Given the description of an element on the screen output the (x, y) to click on. 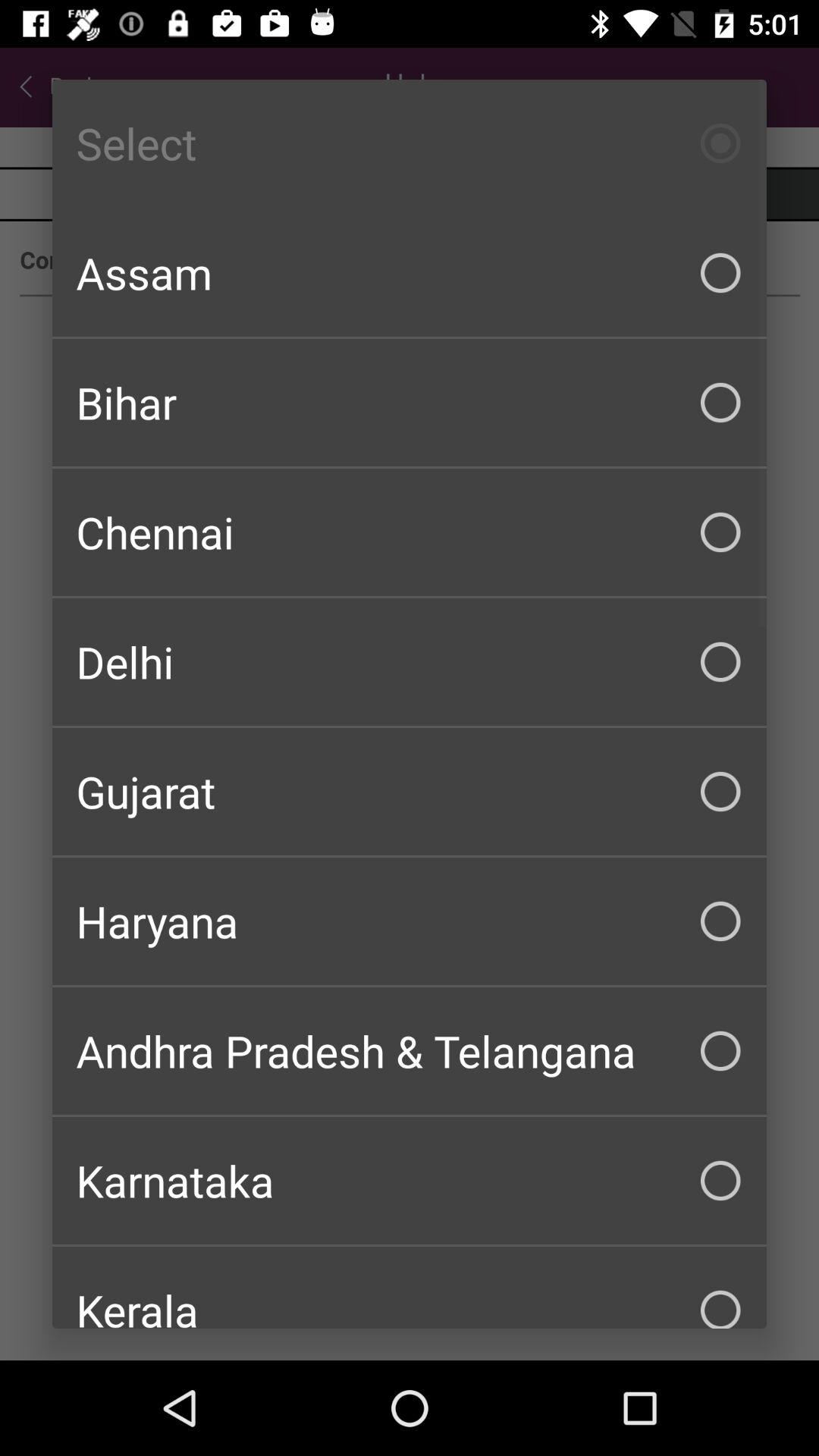
swipe until the kerala item (409, 1287)
